Given the description of an element on the screen output the (x, y) to click on. 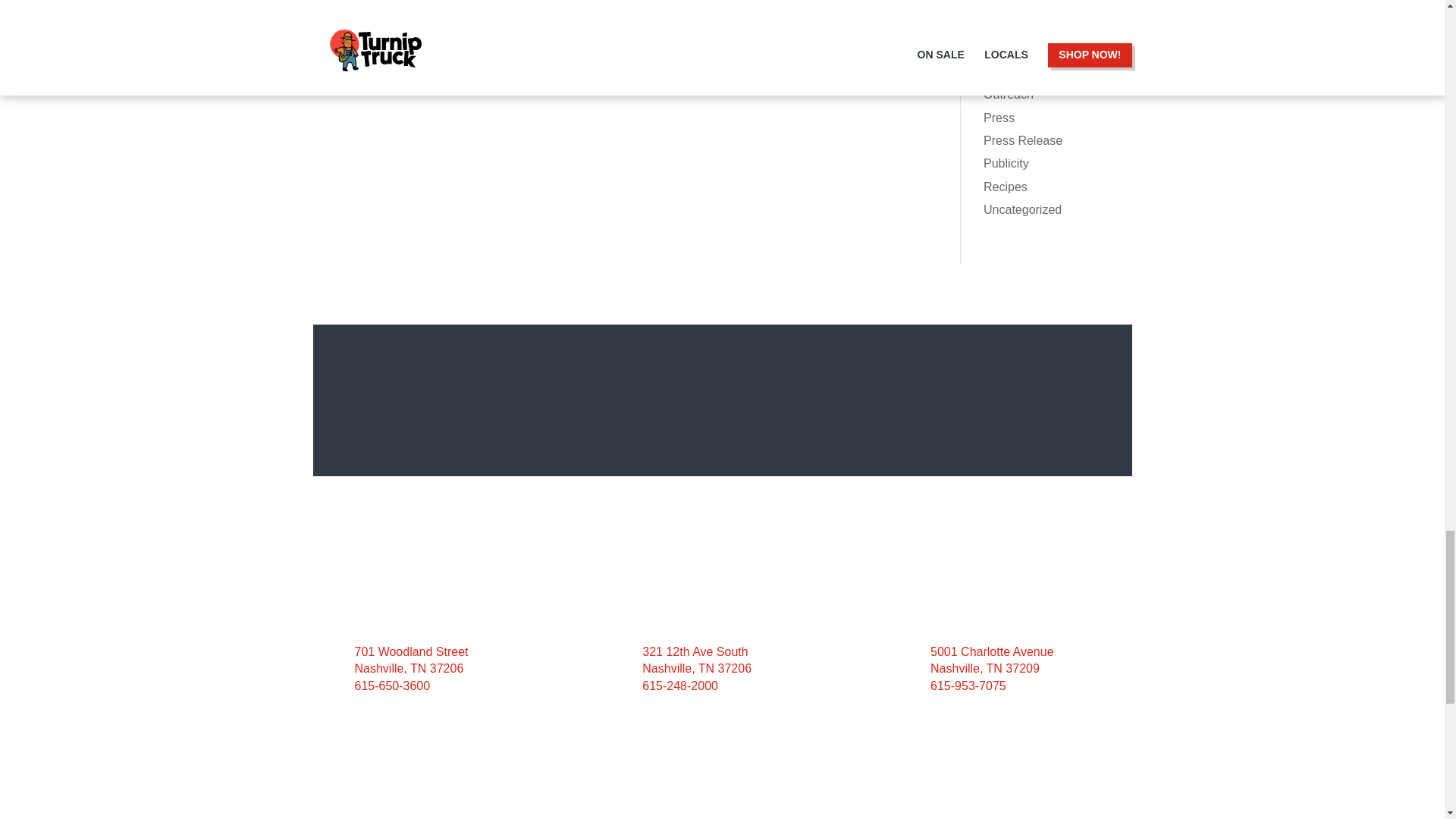
Follow on Instagram (1033, 818)
Follow on X (1002, 818)
Follow on Facebook (972, 818)
